Given the description of an element on the screen output the (x, y) to click on. 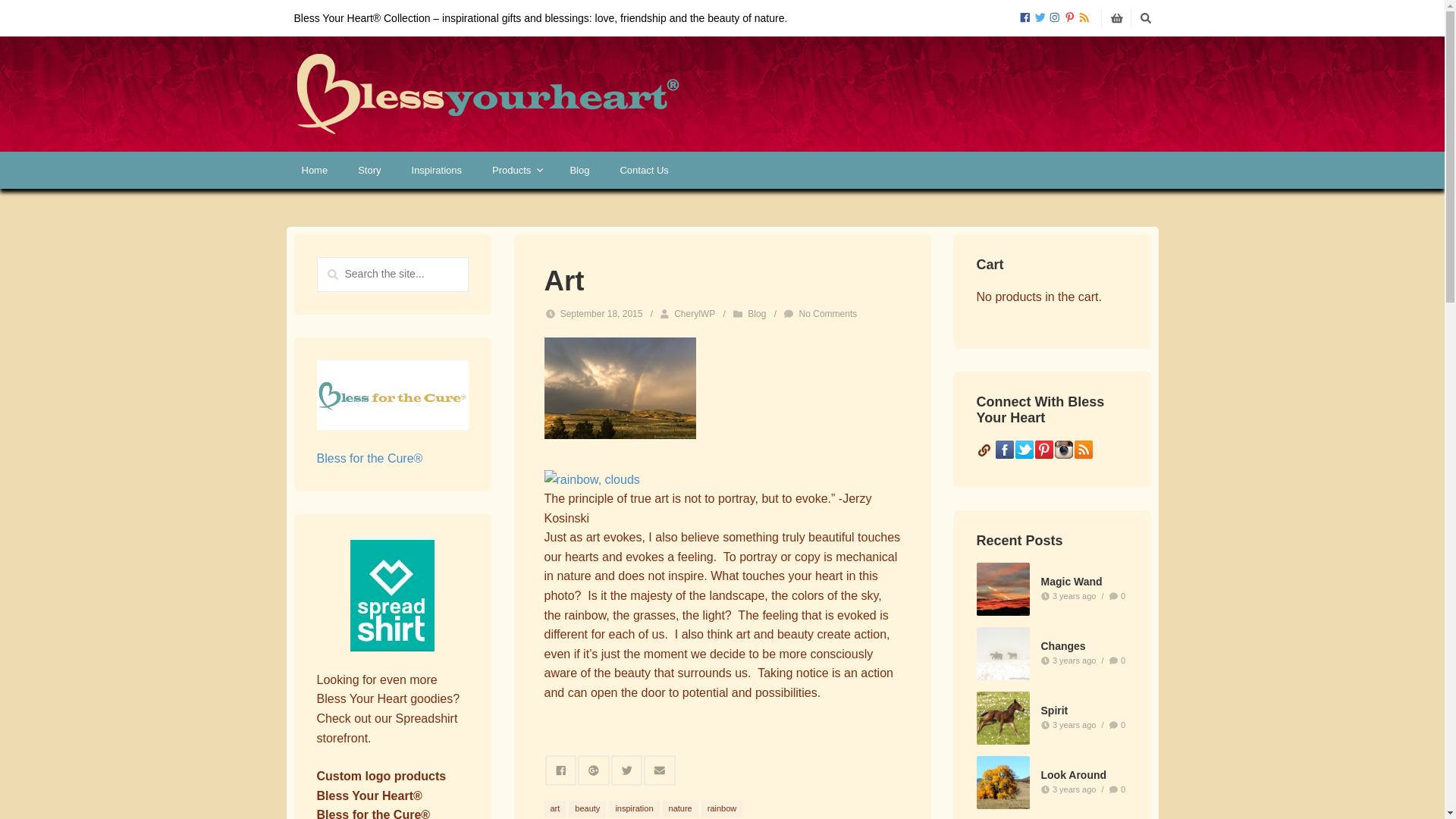
We Bless Your Heart (487, 93)
Story (369, 170)
beauty (587, 808)
Blog (756, 313)
CherylWP (694, 313)
art (555, 808)
inspiration (633, 808)
No Comments (828, 313)
Blog (579, 170)
View all posts by CherylWP (694, 313)
